Given the description of an element on the screen output the (x, y) to click on. 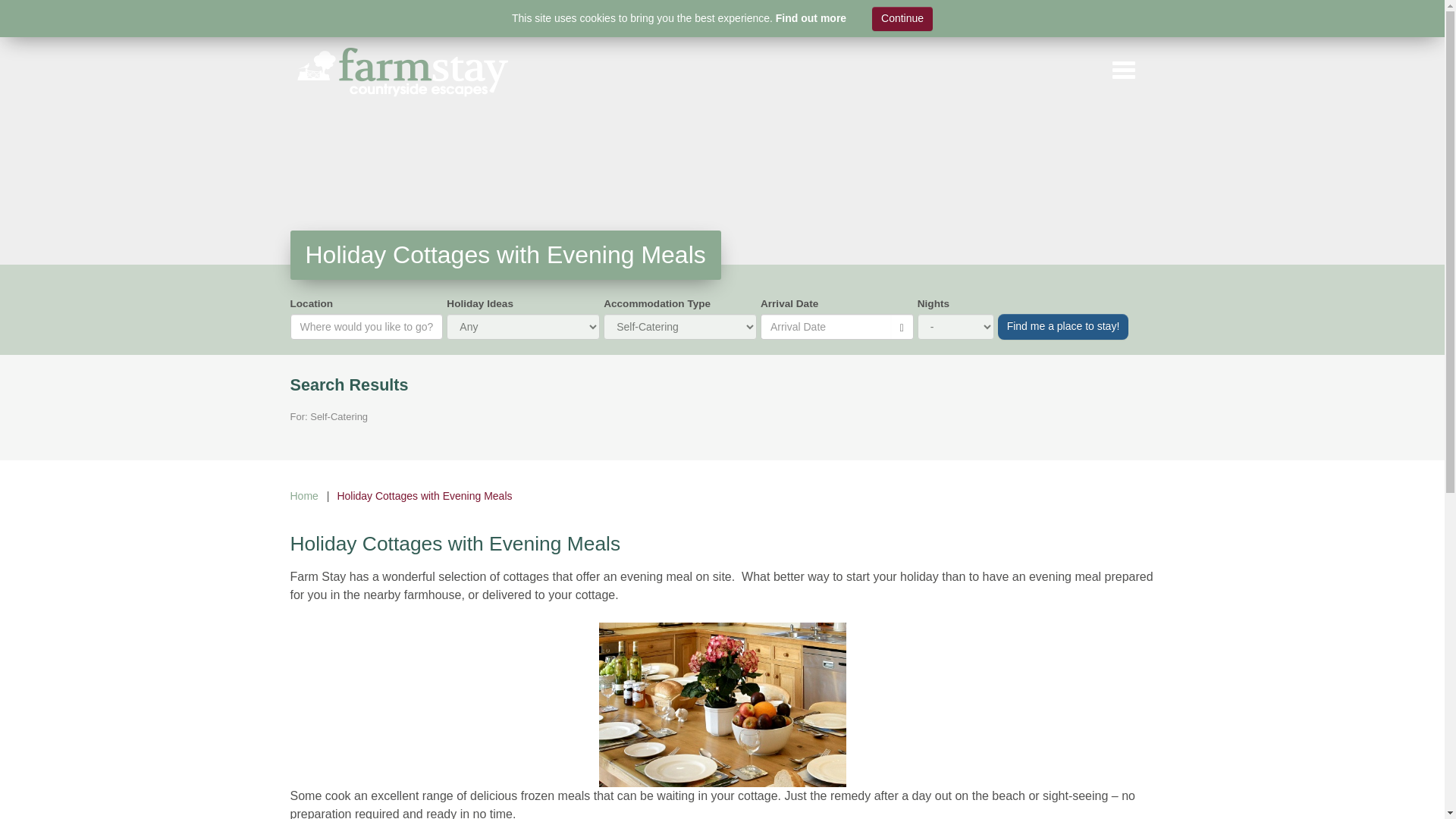
Find out more (810, 18)
Find me a place to stay! (1063, 326)
Skip to main content (21, 21)
Home (303, 495)
Continue (902, 18)
Continue (902, 18)
Find me a place to stay! (1063, 326)
Find me a place to stay! (1063, 326)
